Given the description of an element on the screen output the (x, y) to click on. 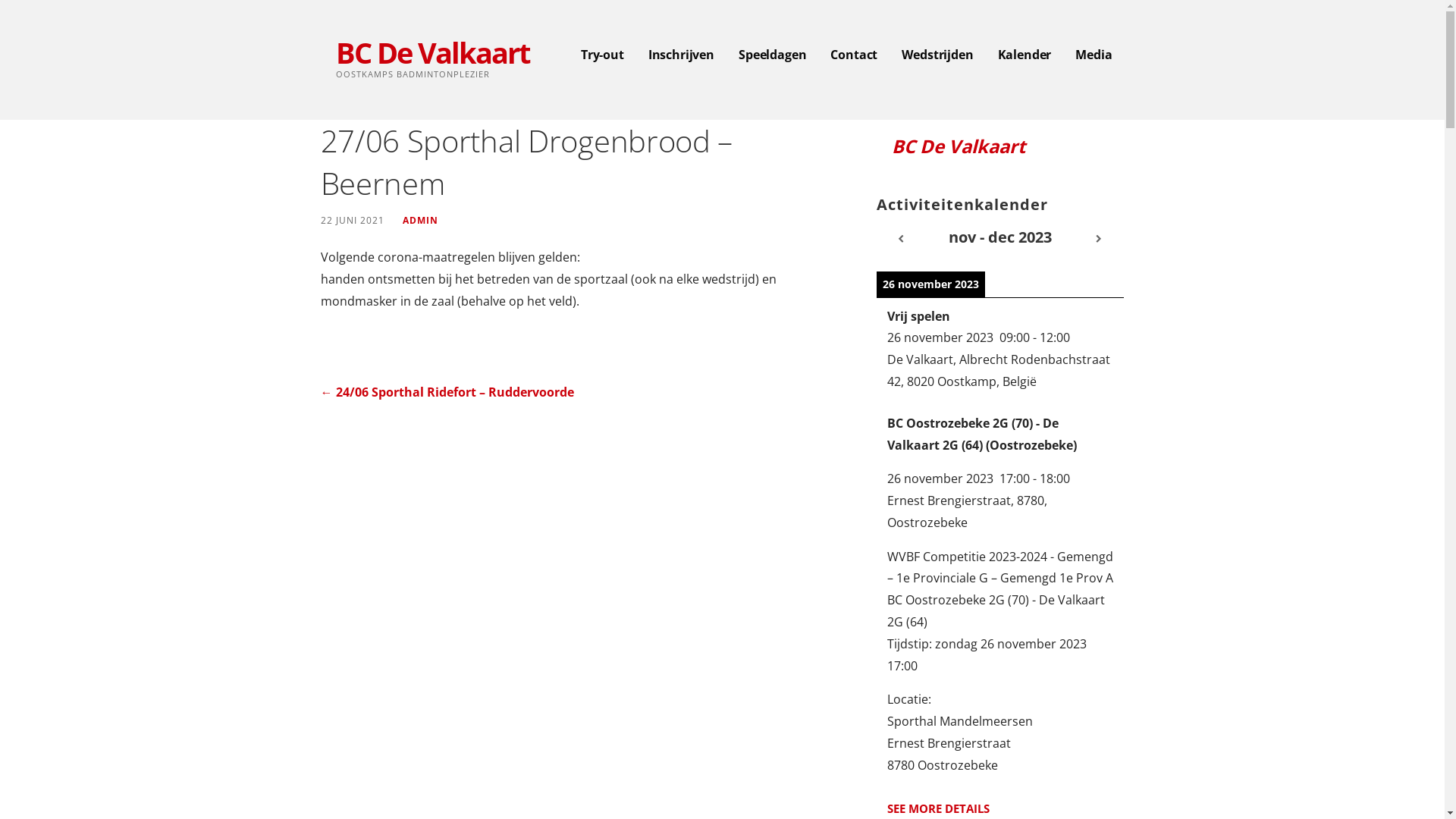
Previous Element type: hover (900, 238)
BC De Valkaart Element type: text (432, 52)
Kalender Element type: text (1024, 55)
Speeldagen Element type: text (772, 55)
BC De Valkaart Element type: text (958, 145)
ADMIN Element type: text (419, 219)
Next Element type: hover (1098, 238)
Media Element type: text (1093, 55)
Contact Element type: text (853, 55)
Try-out Element type: text (602, 55)
Wedstrijden Element type: text (936, 55)
Inschrijven Element type: text (681, 55)
